Given the description of an element on the screen output the (x, y) to click on. 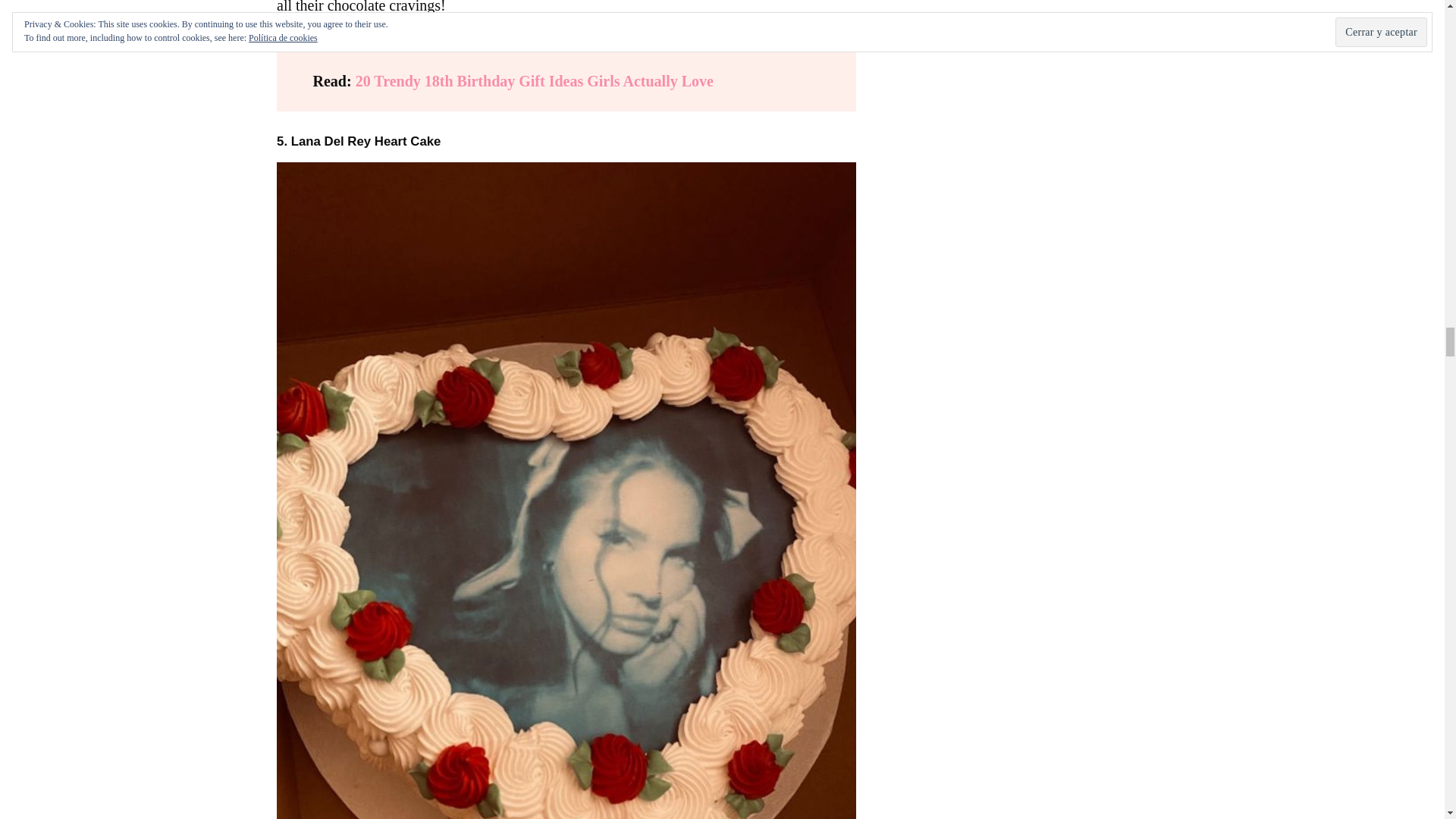
20 Trendy 18th Birthday Gift Ideas Girls Actually Love (534, 80)
